Given the description of an element on the screen output the (x, y) to click on. 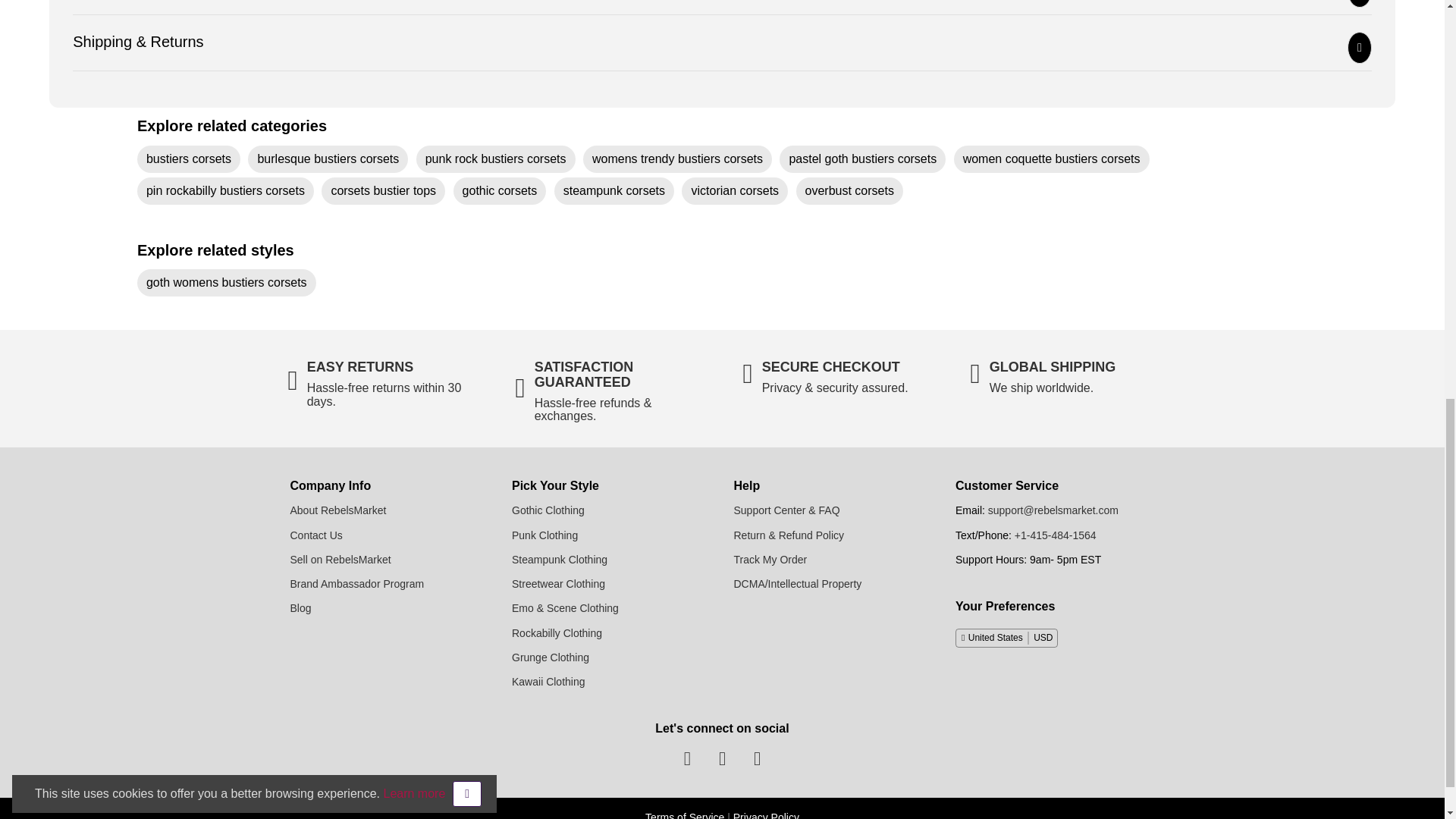
About Us  (337, 510)
Contact Us (315, 535)
